Given the description of an element on the screen output the (x, y) to click on. 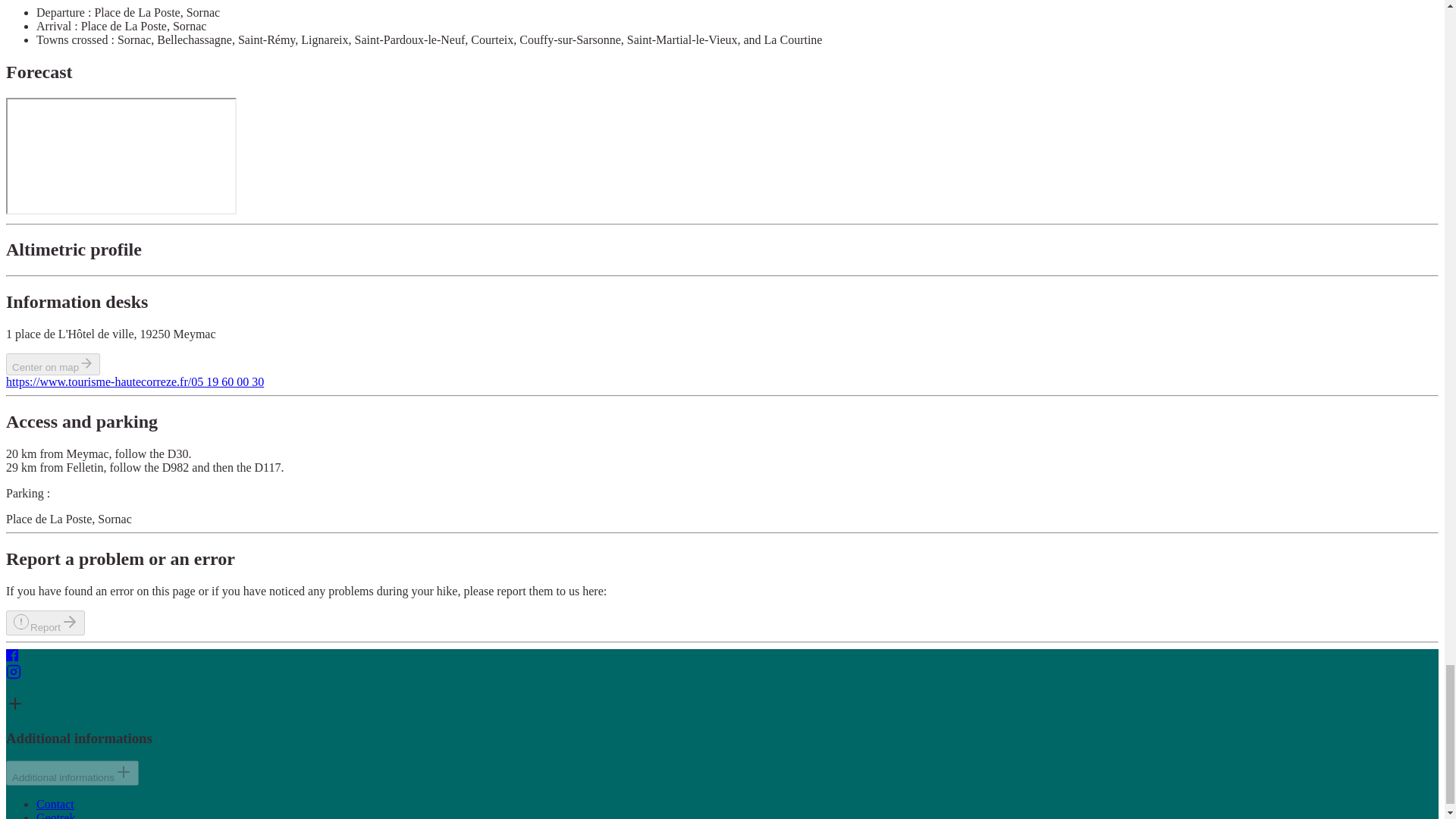
Additional informations (71, 772)
05 19 60 00 30 (226, 381)
Contact (55, 803)
Report (44, 622)
Widget meteofrance (120, 155)
Center on map (52, 363)
